Given the description of an element on the screen output the (x, y) to click on. 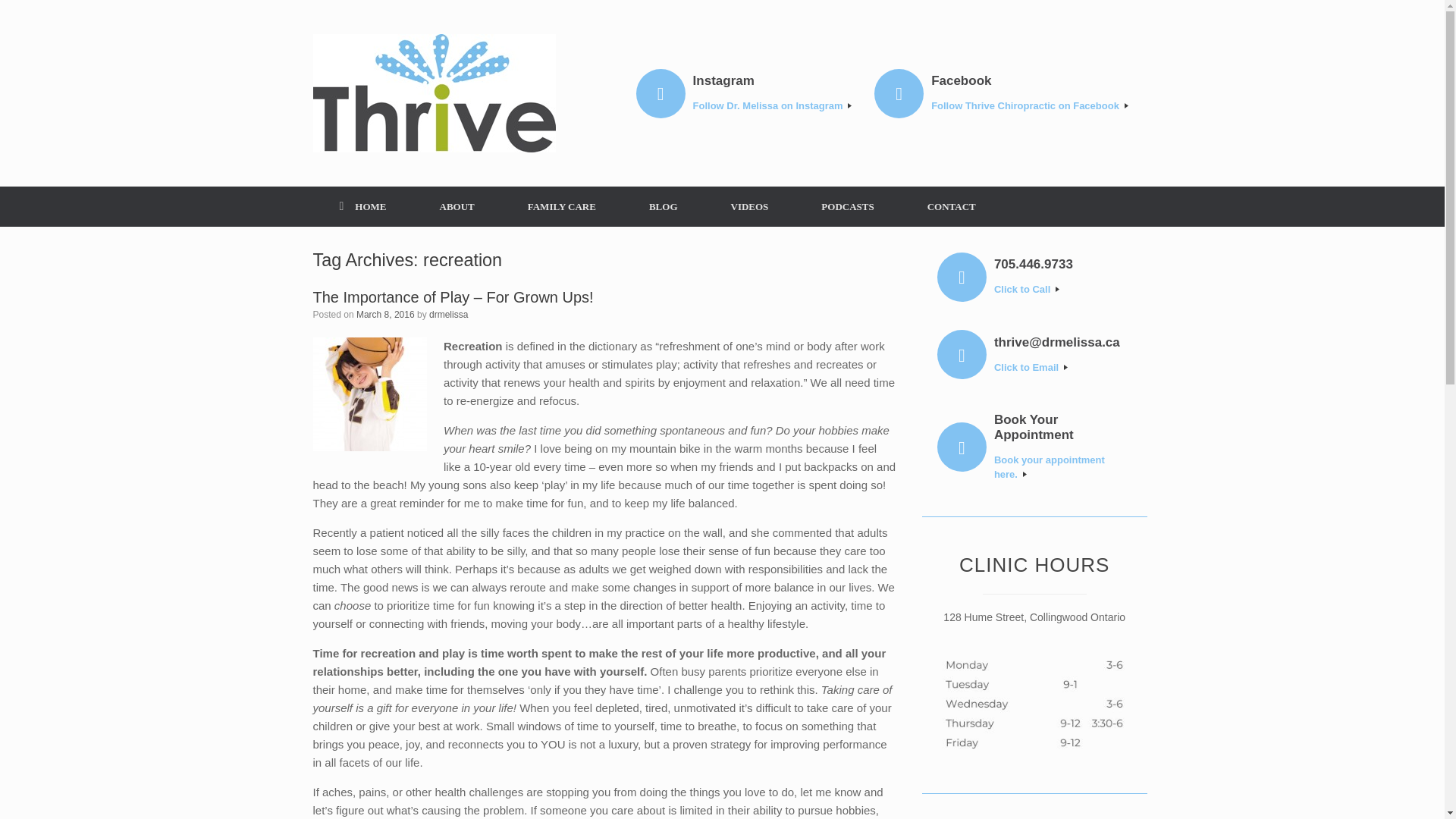
Click to Email (1061, 367)
drmelissa (448, 314)
PODCASTS (846, 206)
Follow Dr. Melissa on Instagram (772, 105)
View all posts by drmelissa (448, 314)
BLOG (663, 206)
HOME (362, 206)
Click to Call (1061, 289)
ABOUT (456, 206)
Instagram (772, 80)
